Given the description of an element on the screen output the (x, y) to click on. 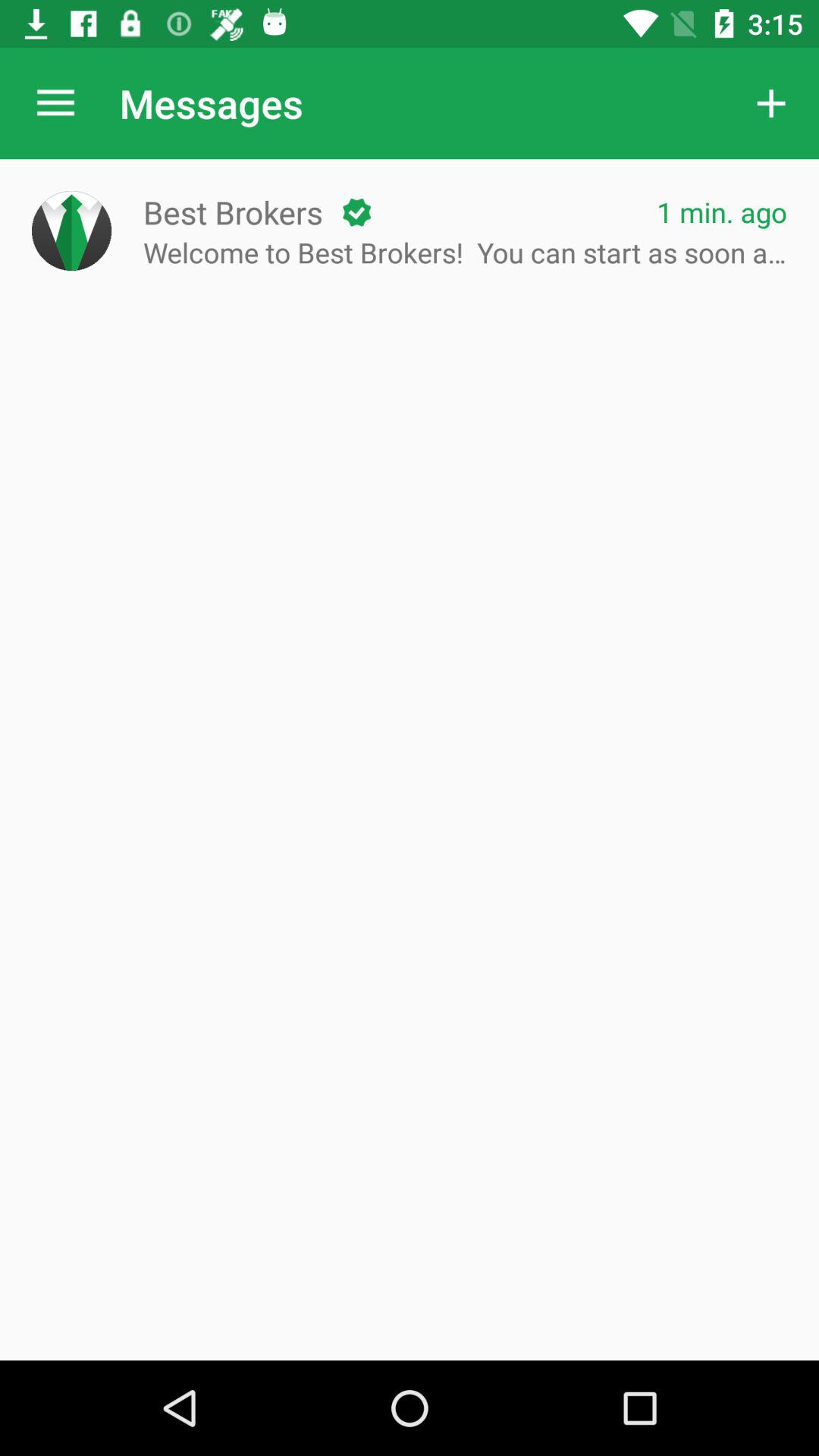
choose the icon above the 1 min. ago icon (771, 103)
